Given the description of an element on the screen output the (x, y) to click on. 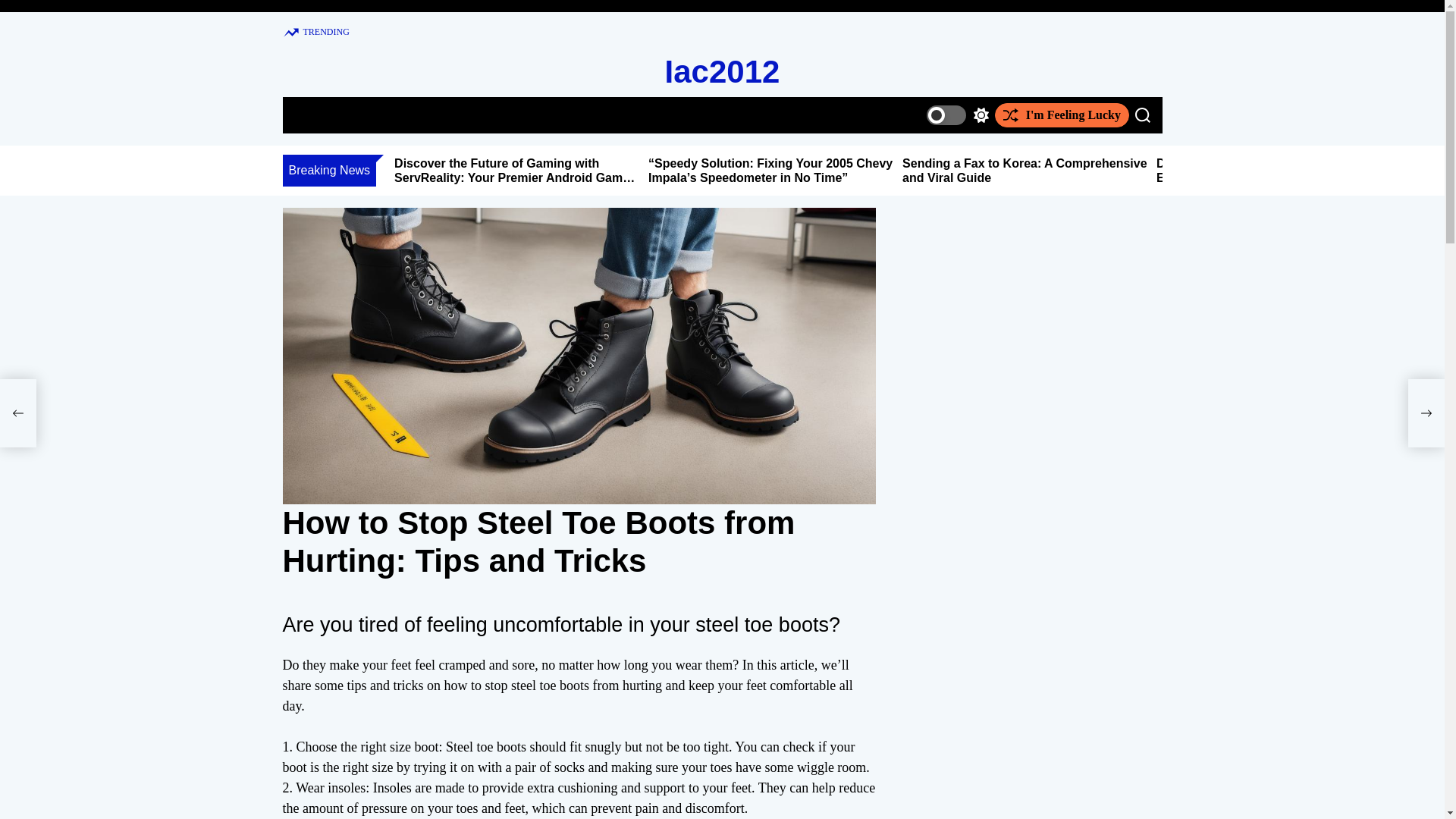
Sending a Fax to Korea: A Comprehensive and Viral Guide (1024, 170)
Iac2012 (722, 71)
I'm Feeling Lucky (1061, 115)
Switch color mode (957, 115)
Search (1142, 114)
